Given the description of an element on the screen output the (x, y) to click on. 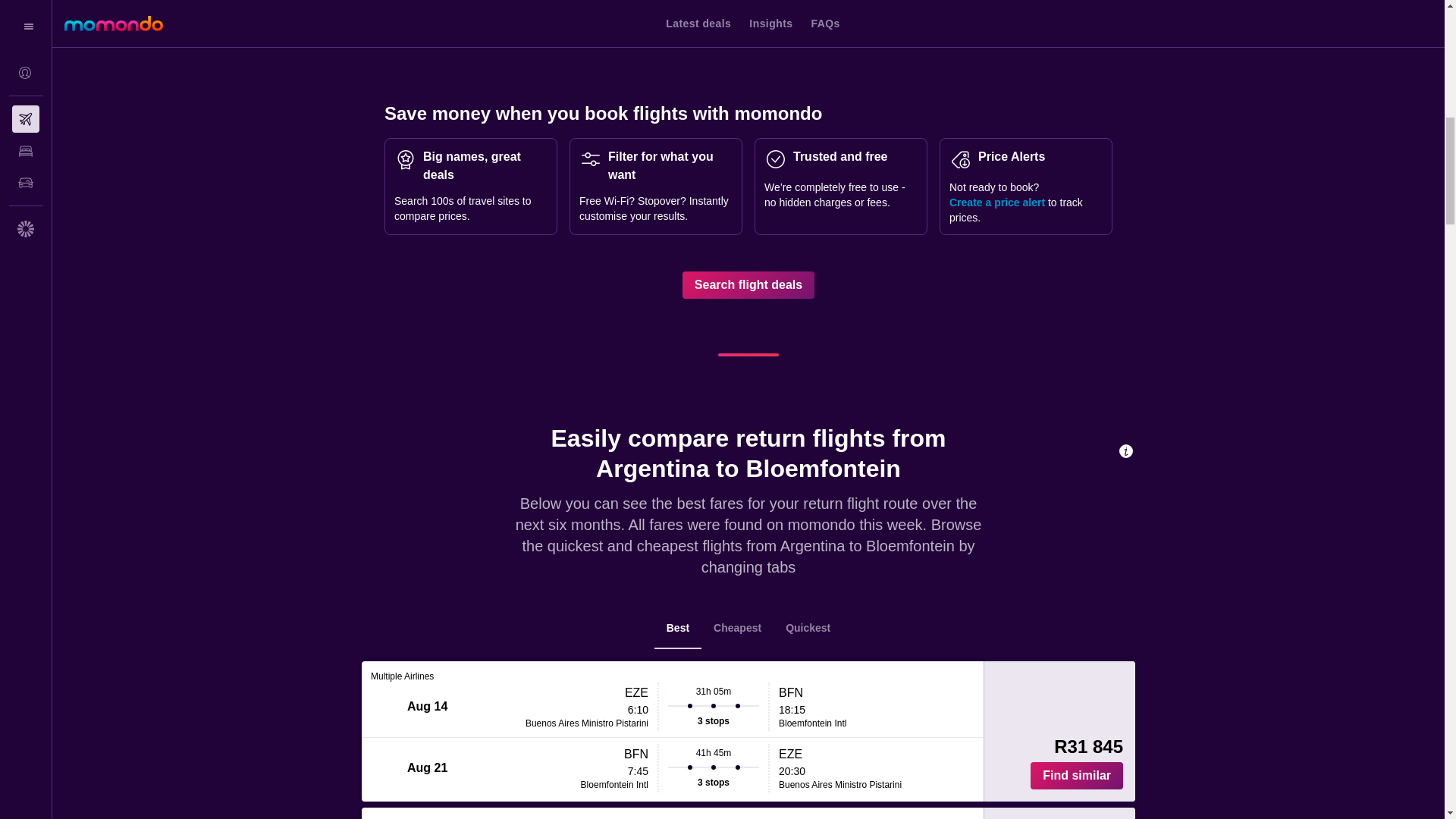
Quickest (808, 628)
Cheapest (737, 628)
Search flight deals (747, 284)
Create a price alert (997, 202)
Best (677, 628)
Find similar (1076, 775)
